Given the description of an element on the screen output the (x, y) to click on. 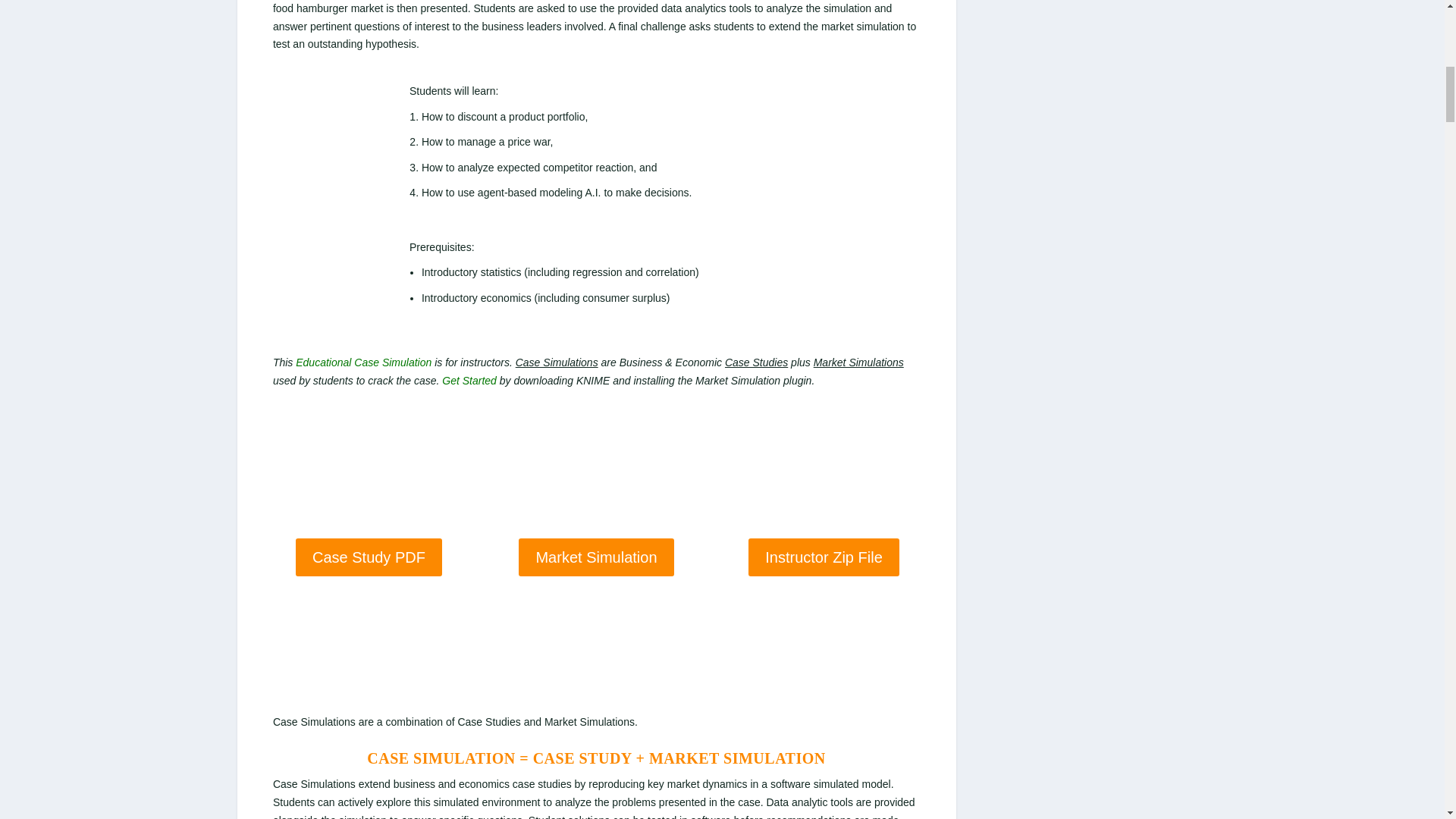
Market Simulation: Education (362, 362)
Get Started (469, 380)
Educational Case Simulation (362, 362)
Market Simulation (595, 557)
Instructor Zip File (823, 557)
Market Simulation: Getting Started (469, 380)
Case Study PDF (368, 557)
